Given the description of an element on the screen output the (x, y) to click on. 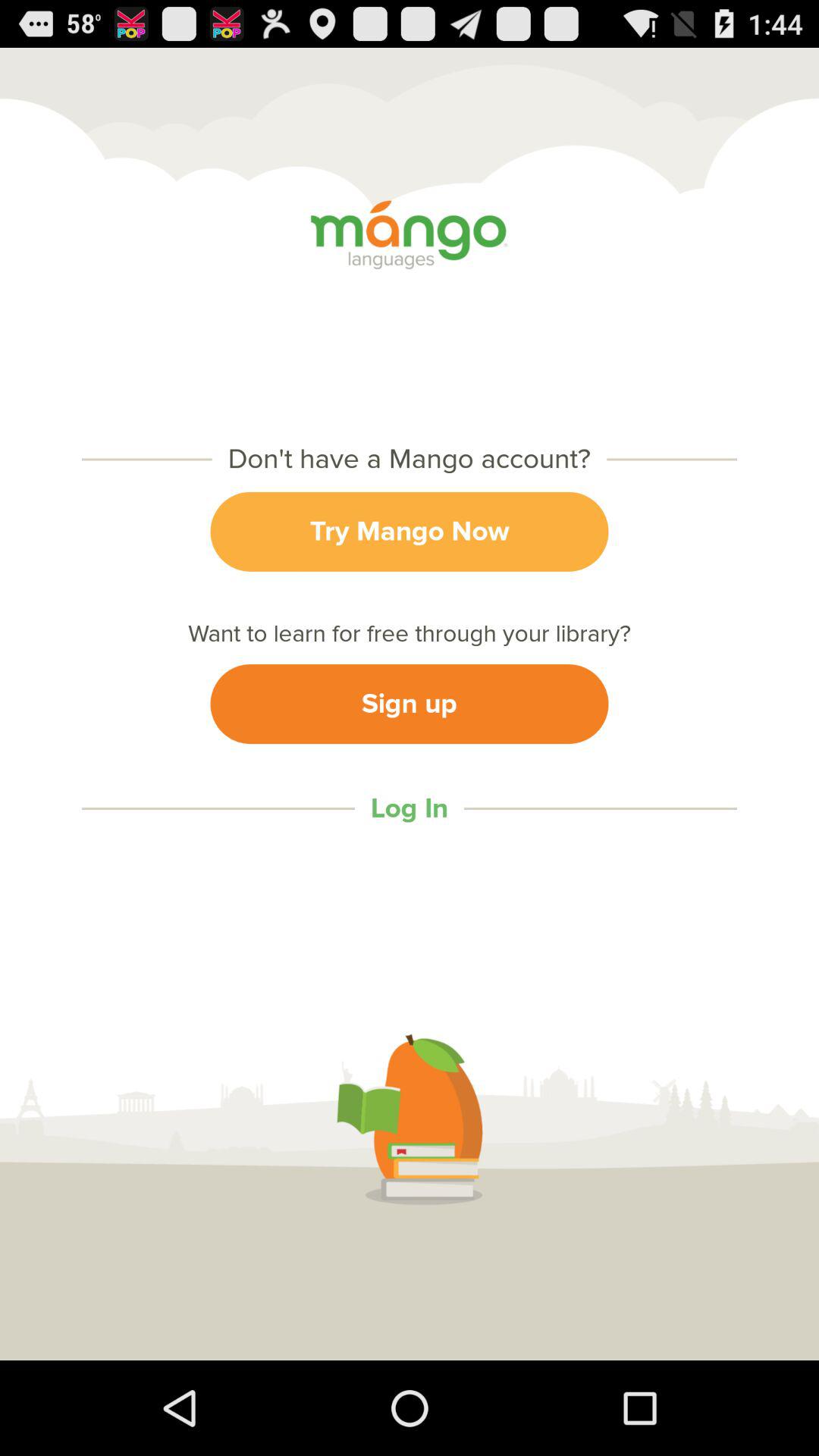
turn off icon below the sign up icon (409, 808)
